Given the description of an element on the screen output the (x, y) to click on. 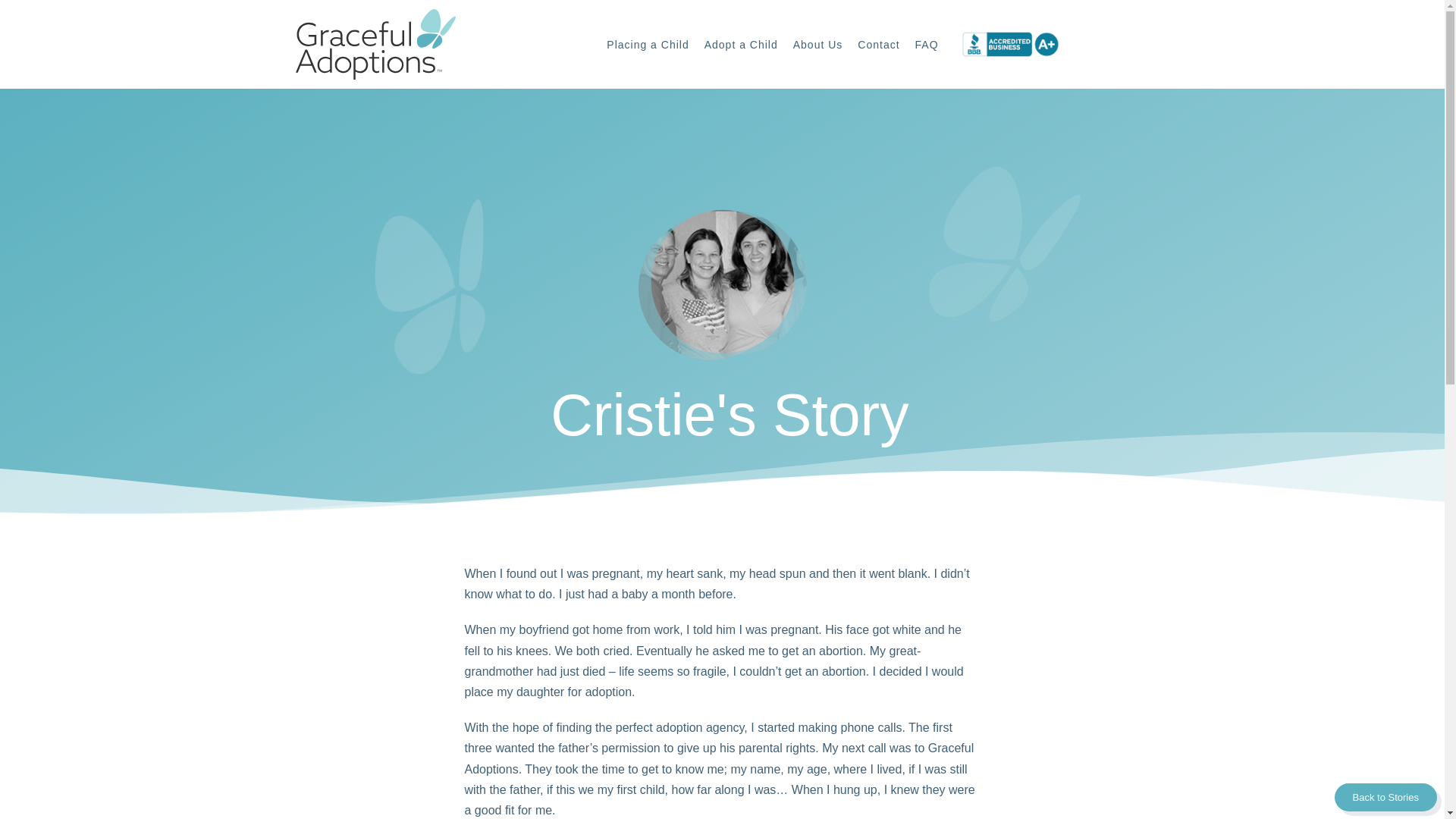
877-628-1415 (1114, 43)
Placing a Child (646, 44)
FAQ (926, 44)
About Us (818, 44)
Adopt a Child (741, 44)
Contact (878, 44)
Back to Stories (1386, 796)
